Given the description of an element on the screen output the (x, y) to click on. 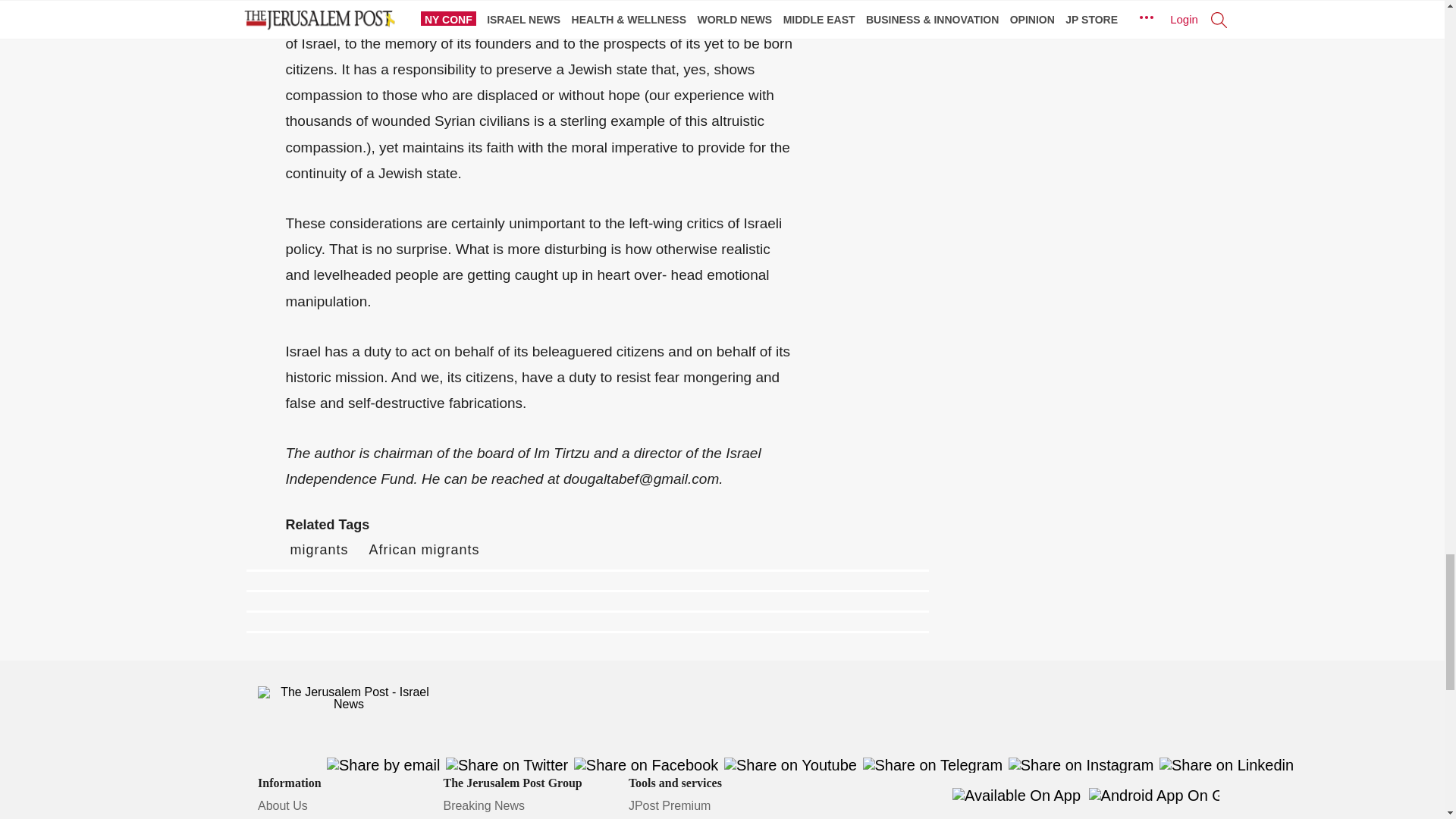
migrants (318, 549)
migrants (318, 549)
African migrants (424, 549)
African migrants (424, 549)
